Given the description of an element on the screen output the (x, y) to click on. 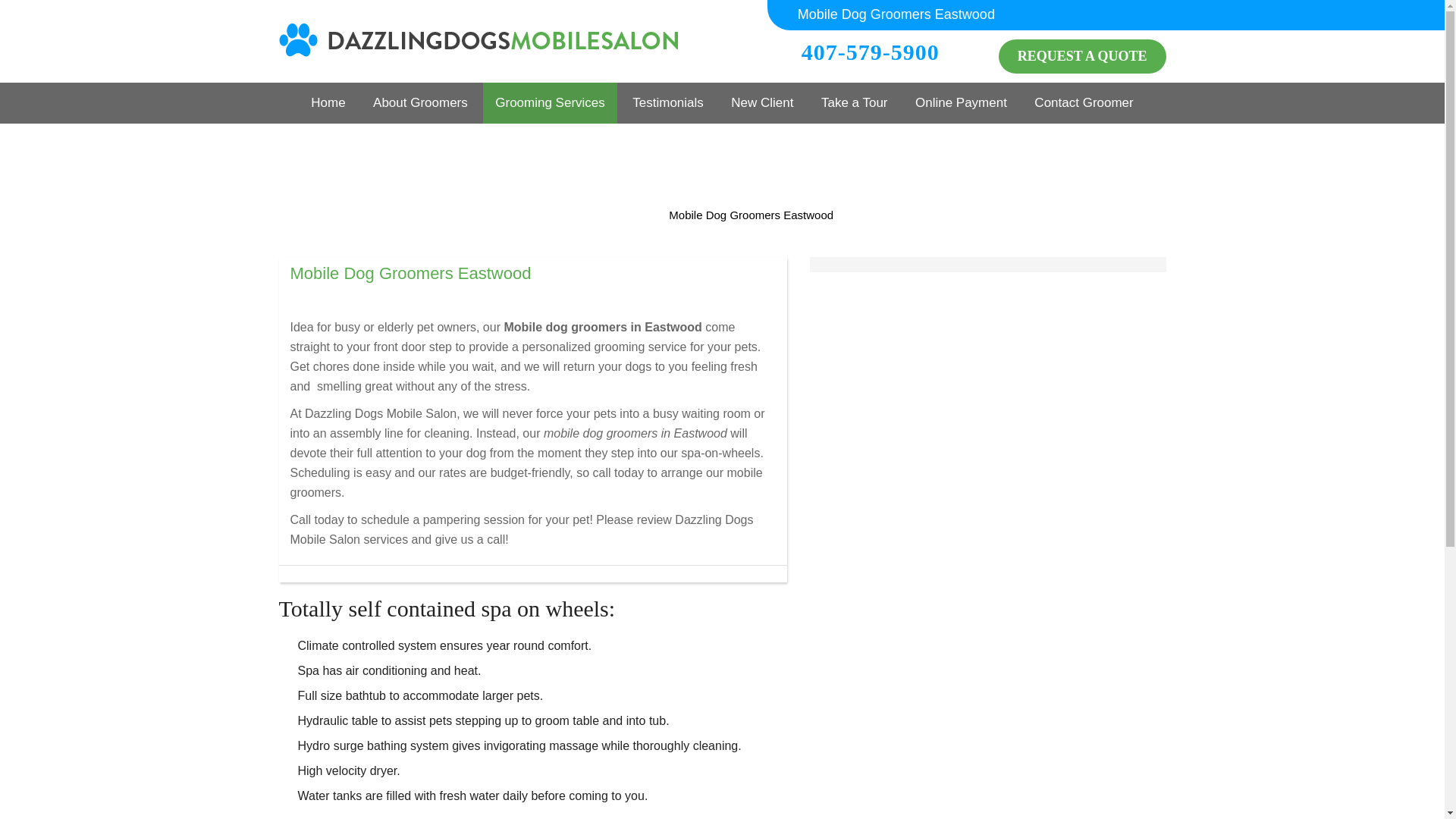
Contact Groomer (1083, 102)
Home (327, 102)
407-579-5900 (882, 52)
Online Payment (960, 102)
REQUEST A QUOTE (1082, 56)
About Groomers (420, 102)
Grooming Services (550, 102)
New Client (762, 102)
Take a Tour (854, 102)
Testimonials (668, 102)
